Given the description of an element on the screen output the (x, y) to click on. 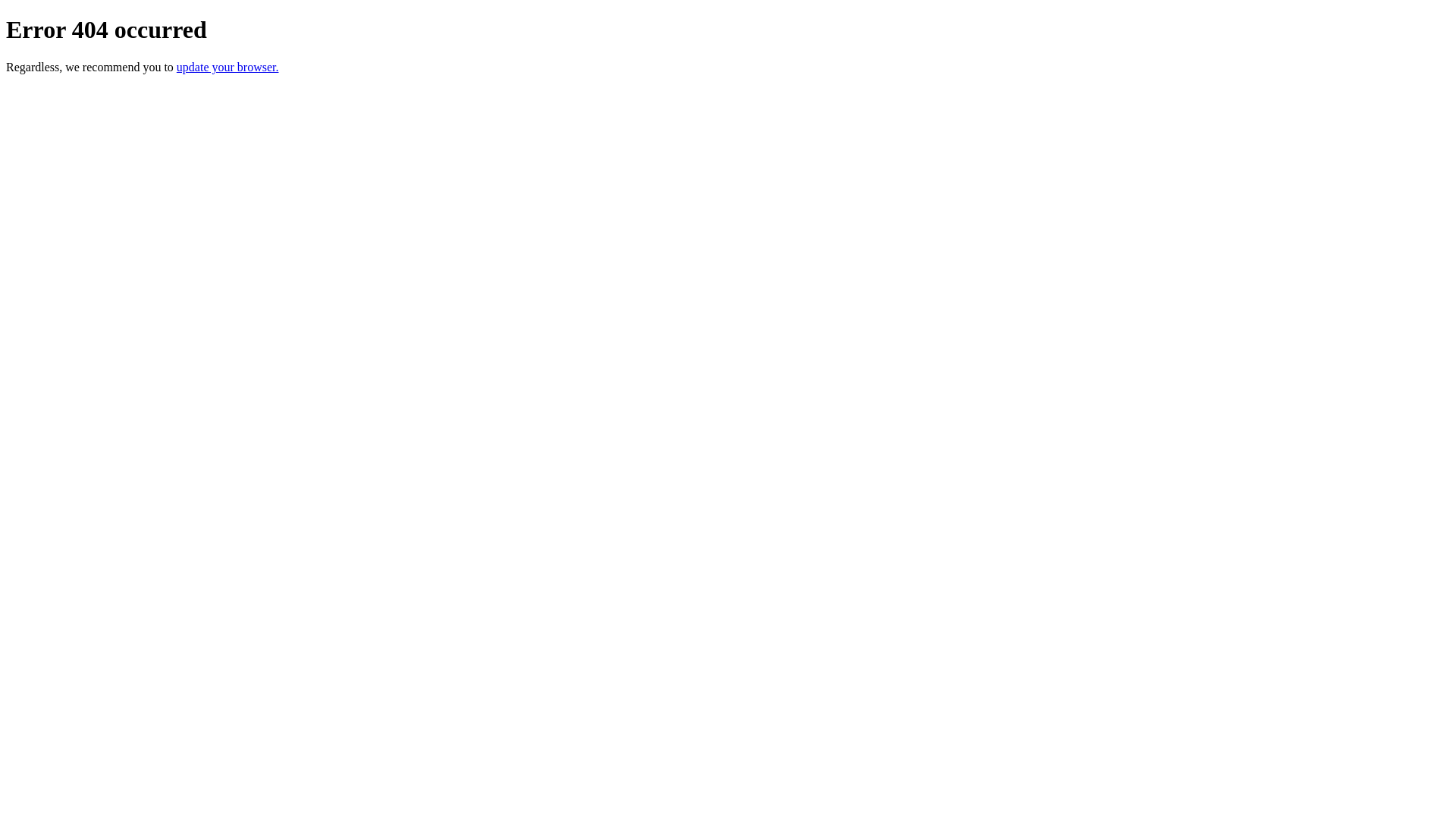
update your browser. Element type: text (227, 66)
